Given the description of an element on the screen output the (x, y) to click on. 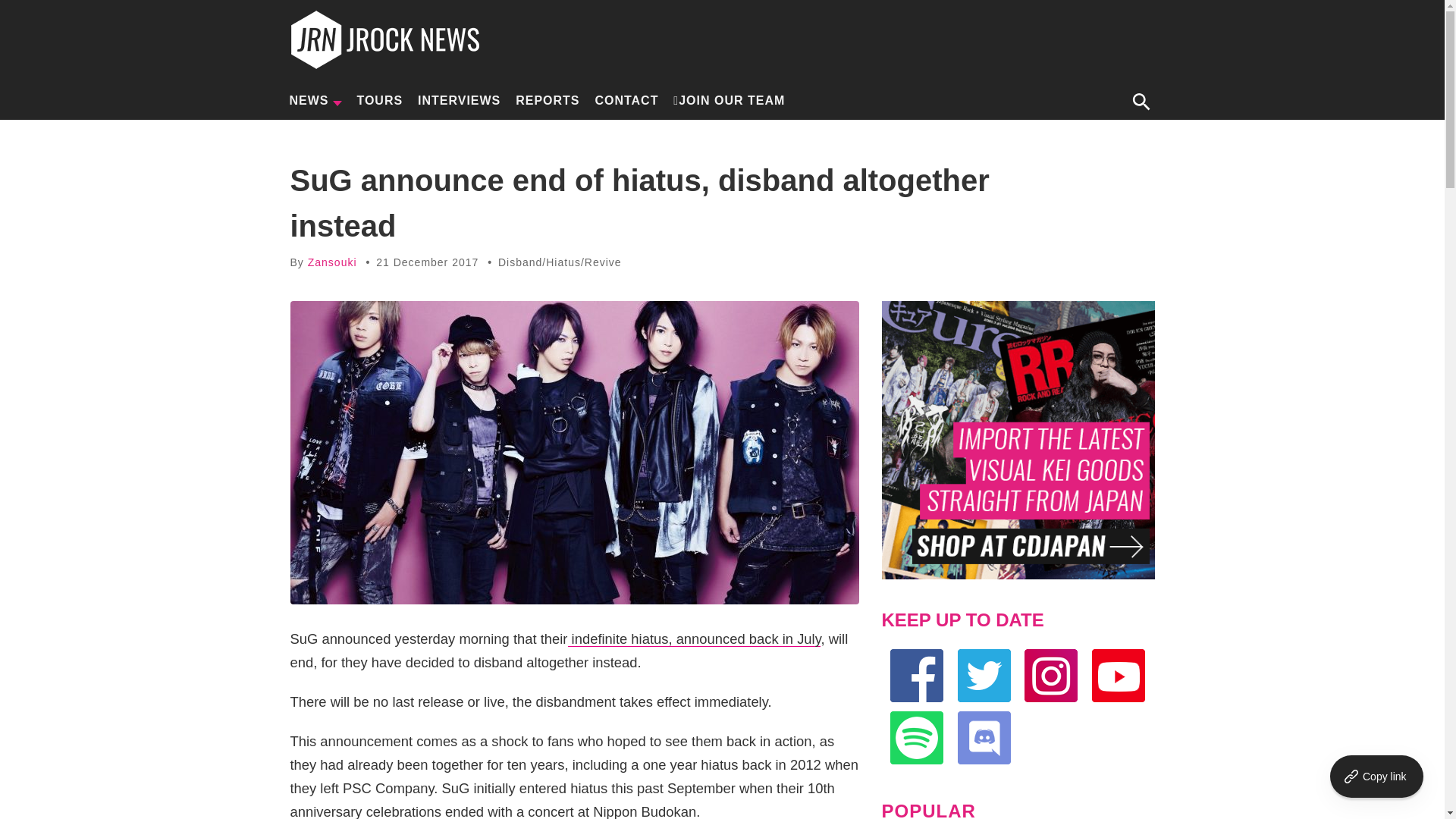
indefinite hiatus, announced back in July (694, 638)
CONTACT (626, 100)
TOURS (379, 100)
REPORTS (547, 100)
Zansouki (331, 262)
NEWS (314, 100)
INTERVIEWS (458, 100)
Posts by Zansouki (331, 262)
